Given the description of an element on the screen output the (x, y) to click on. 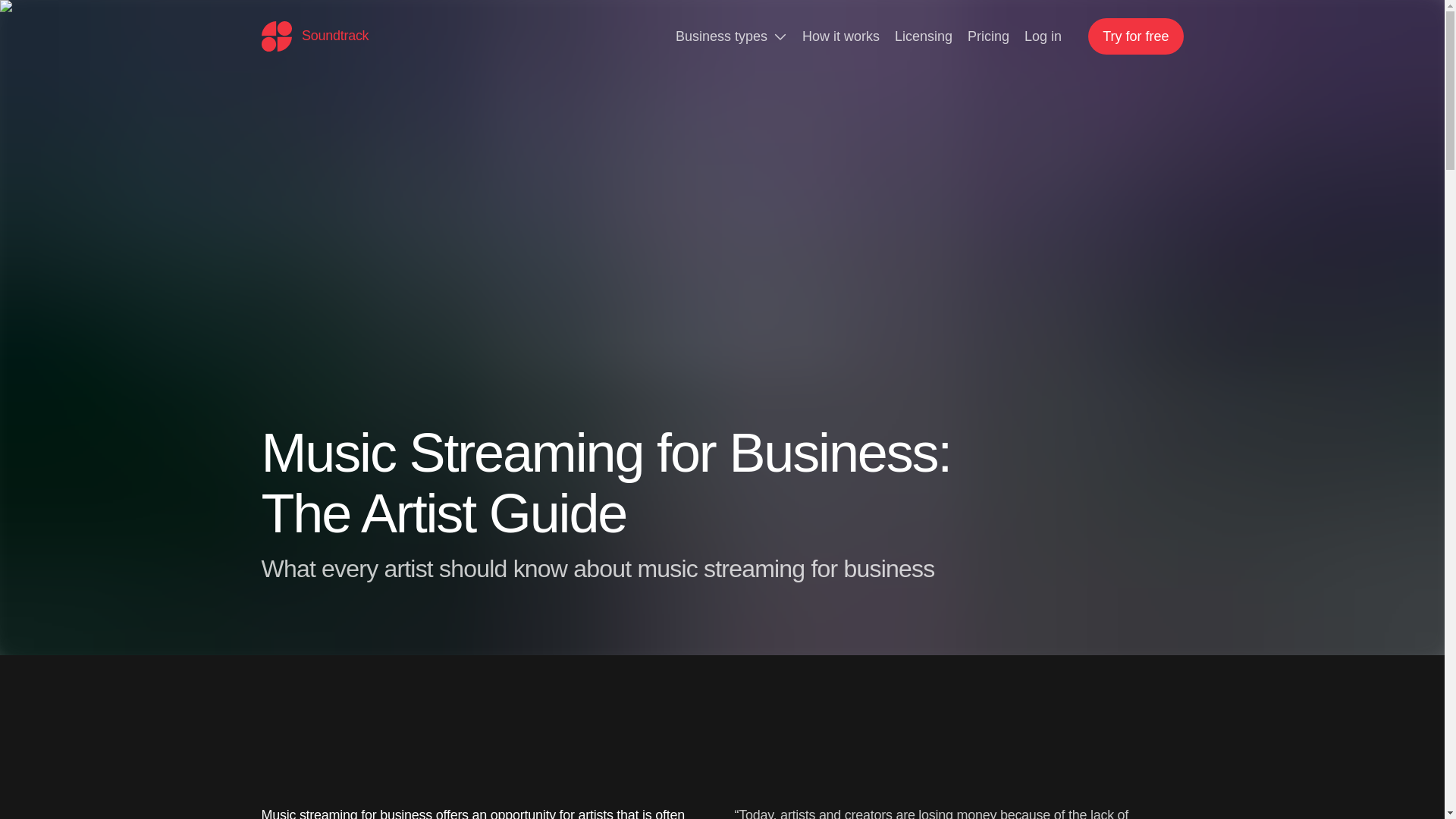
how it works (841, 36)
Try for free (1134, 36)
Log in (1042, 36)
licensing (923, 36)
pricing (988, 36)
Business types (731, 36)
Soundtrack (314, 36)
